Given the description of an element on the screen output the (x, y) to click on. 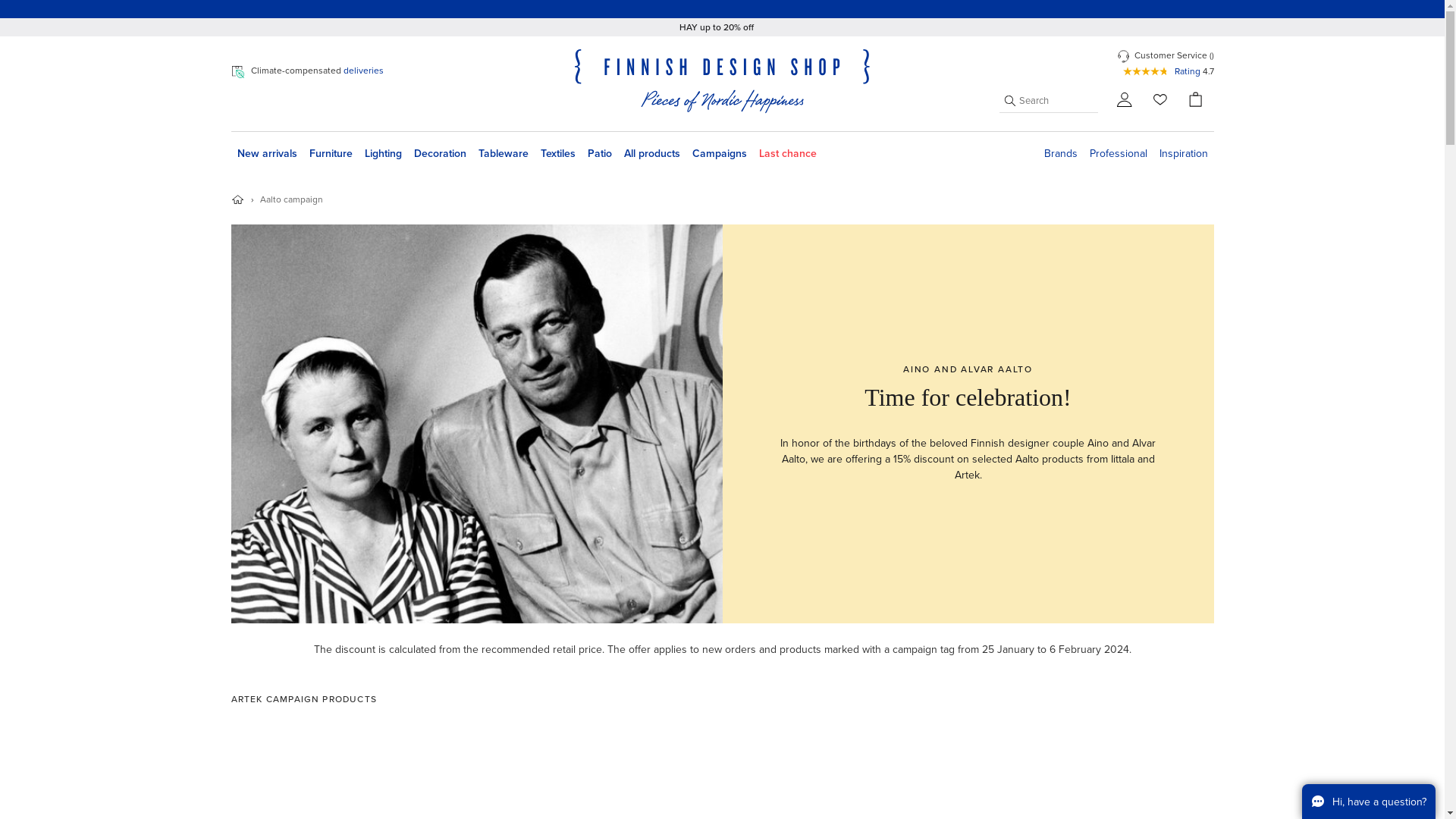
Customer Service (1170, 54)
Rating (1186, 71)
Cart (1196, 98)
New arrivals (266, 153)
Lighting (382, 153)
Cart (1196, 98)
Furniture (330, 153)
My Account (1124, 98)
Customer Service (1126, 54)
